Given the description of an element on the screen output the (x, y) to click on. 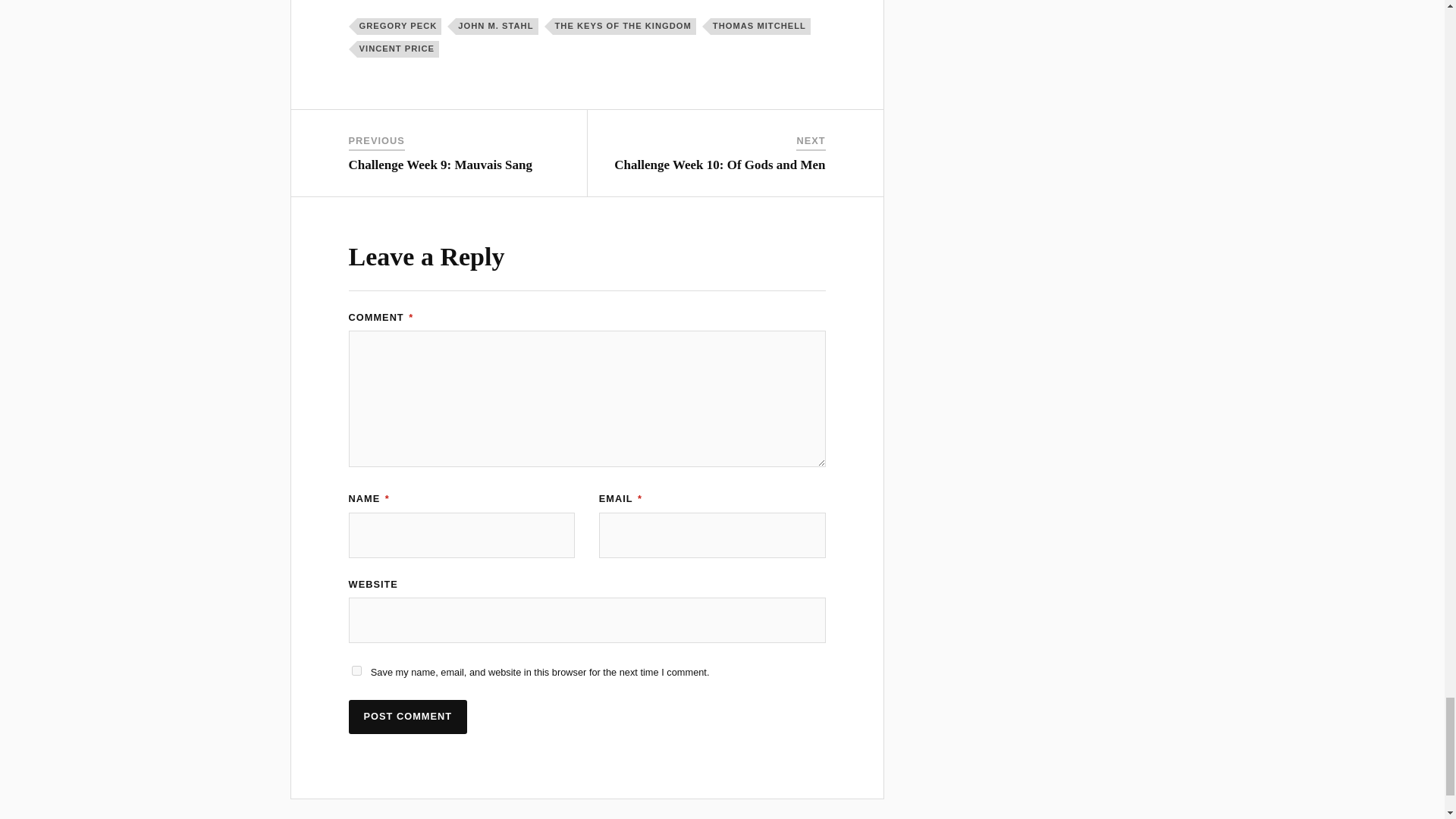
THE KEYS OF THE KINGDOM (624, 26)
JOHN M. STAHL (496, 26)
Challenge Week 9: Mauvais Sang (440, 164)
VINCENT PRICE (397, 48)
Post Comment (408, 716)
yes (356, 670)
Post Comment (408, 716)
GREGORY PECK (399, 26)
THOMAS MITCHELL (760, 26)
Challenge Week 10: Of Gods and Men (719, 164)
